Given the description of an element on the screen output the (x, y) to click on. 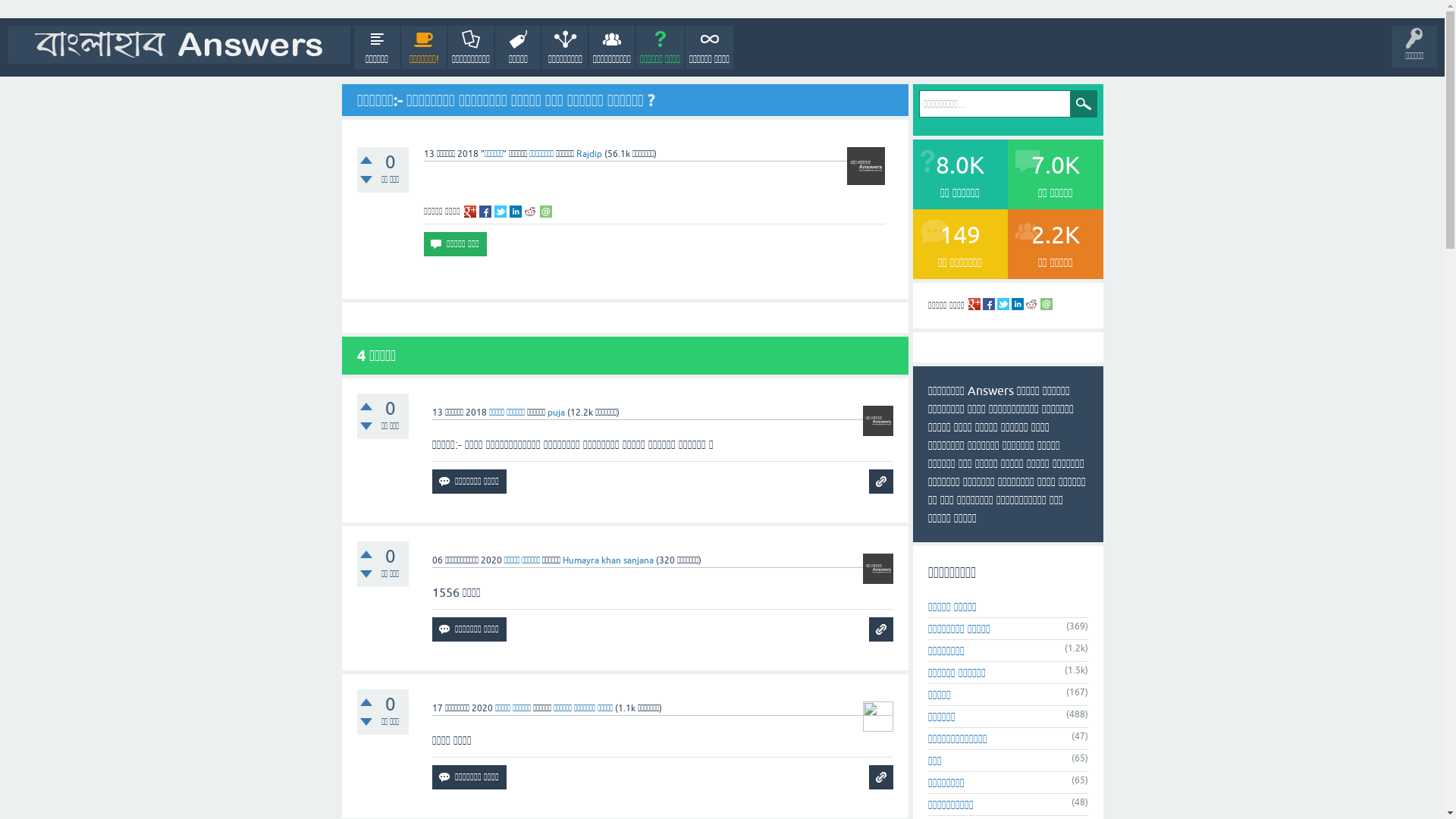
+ Element type: text (365, 554)
share via email Element type: text (1046, 304)
share on li Element type: text (1017, 304)
+ Element type: text (365, 702)
share on li Element type: text (515, 211)
Rajdip Element type: text (589, 153)
share on fb Element type: text (485, 211)
Humayra khan sanjana Element type: text (607, 560)
share on tw Element type: text (500, 211)
+ Element type: text (365, 406)
puja Element type: text (555, 412)
share on re Element type: text (1031, 304)
share on re Element type: text (530, 211)
share on fb Element type: text (988, 304)
share on gp Element type: text (470, 211)
share on gp Element type: text (973, 304)
share via email Element type: text (545, 211)
+ Element type: text (365, 159)
share on tw Element type: text (1002, 304)
